Given the description of an element on the screen output the (x, y) to click on. 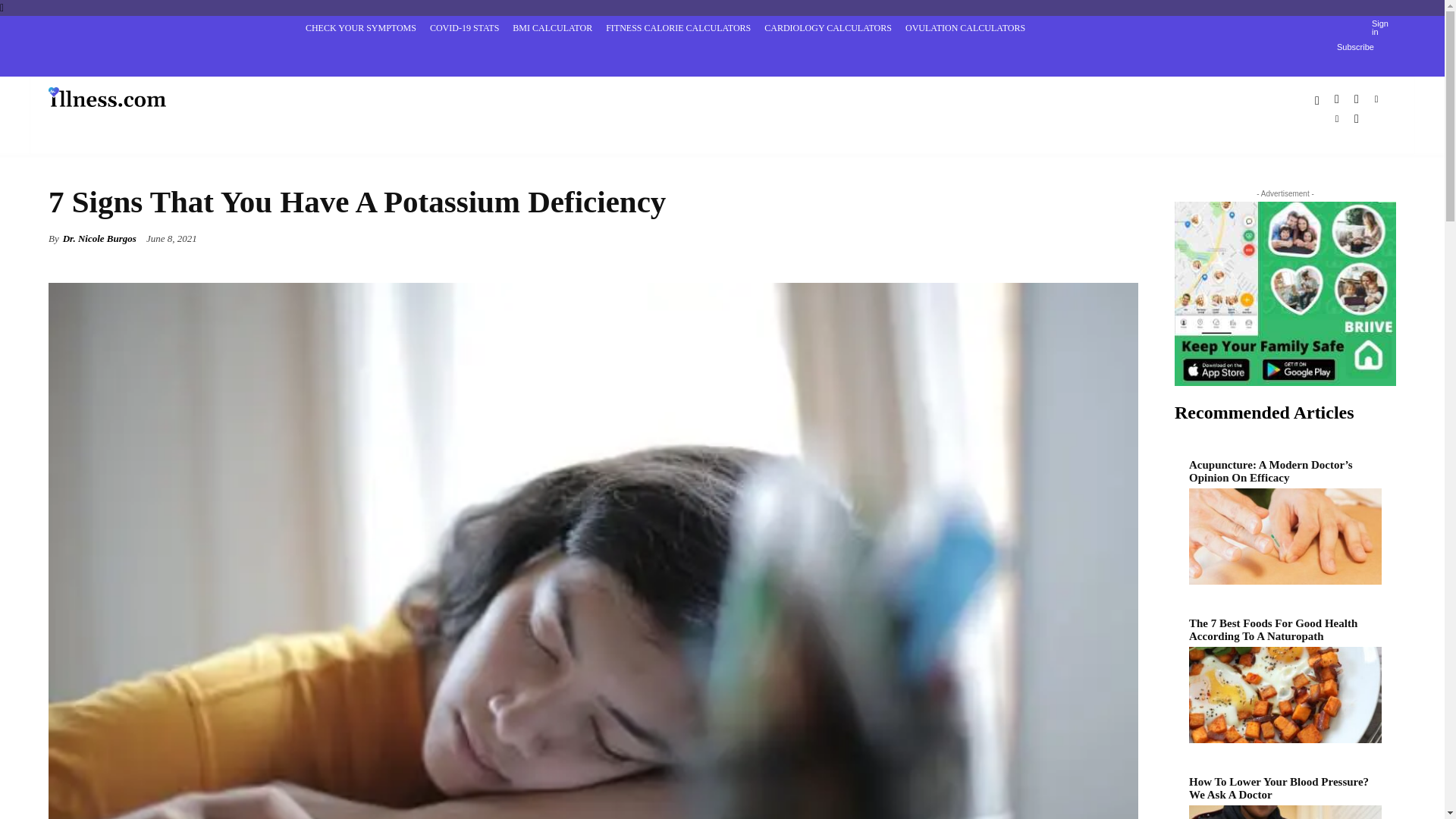
Subscribe (1355, 46)
Sign in (1380, 27)
CHECK YOUR SYMPTOMS (360, 27)
COVID-19 STATS (464, 27)
BMI CALCULATOR (551, 27)
FITNESS CALORIE CALCULATORS (677, 27)
illness-logo (106, 96)
illness-logo (90, 96)
OVULATION CALCULATORS (965, 27)
CARDIOLOGY CALCULATORS (827, 27)
